Given the description of an element on the screen output the (x, y) to click on. 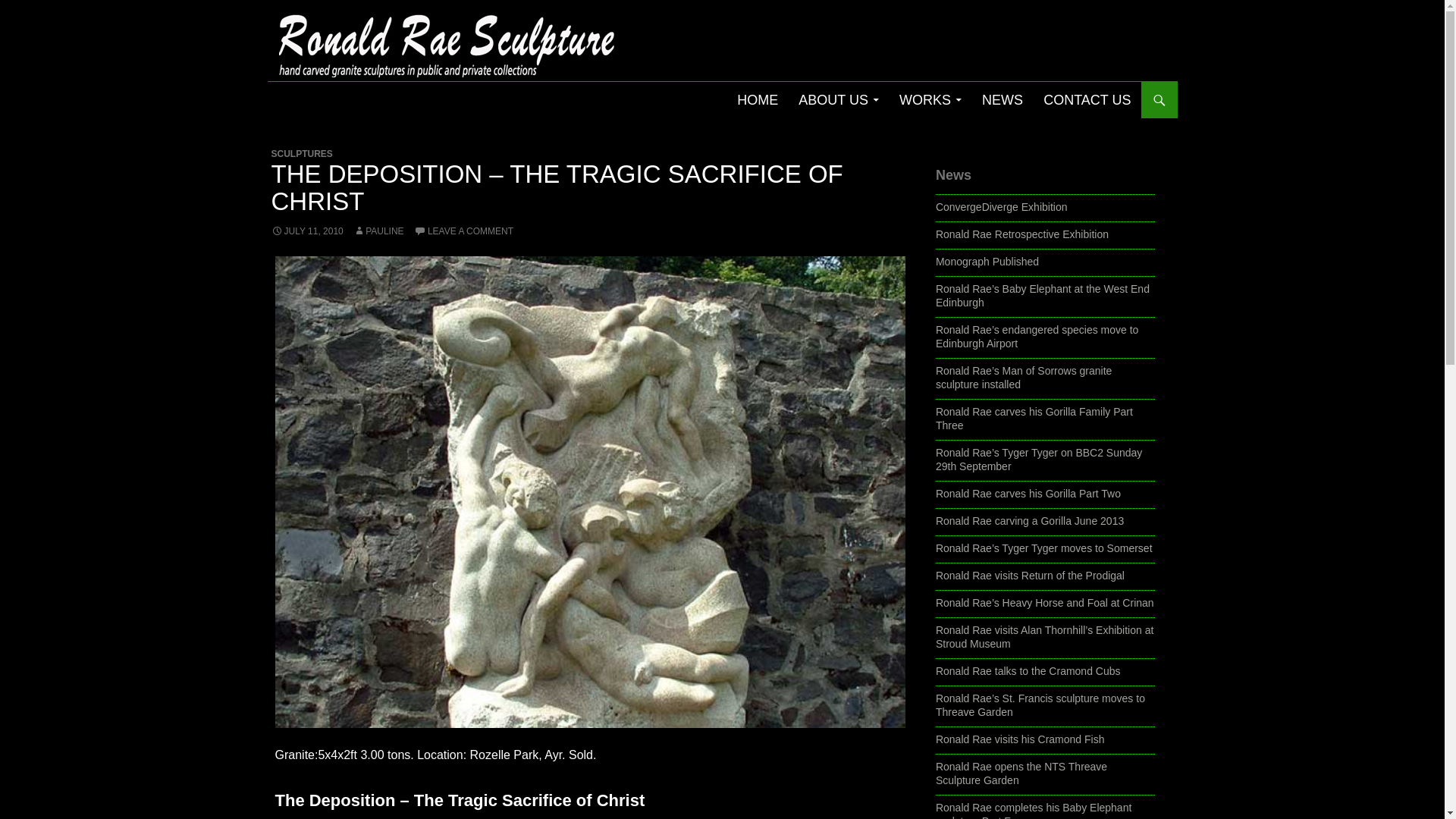
LEAVE A COMMENT (463, 231)
Ronald Rae Sculpture (359, 99)
NEWS (1002, 99)
ConvergeDiverge Exhibition (1001, 206)
PAULINE (378, 231)
HOME (757, 99)
Ronald Rae Retrospective Exhibition (1022, 234)
SCULPTURES (301, 153)
ABOUT US (838, 99)
JULY 11, 2010 (306, 231)
WORKS (930, 99)
Monograph Published (987, 261)
CONTACT US (1086, 99)
